Given the description of an element on the screen output the (x, y) to click on. 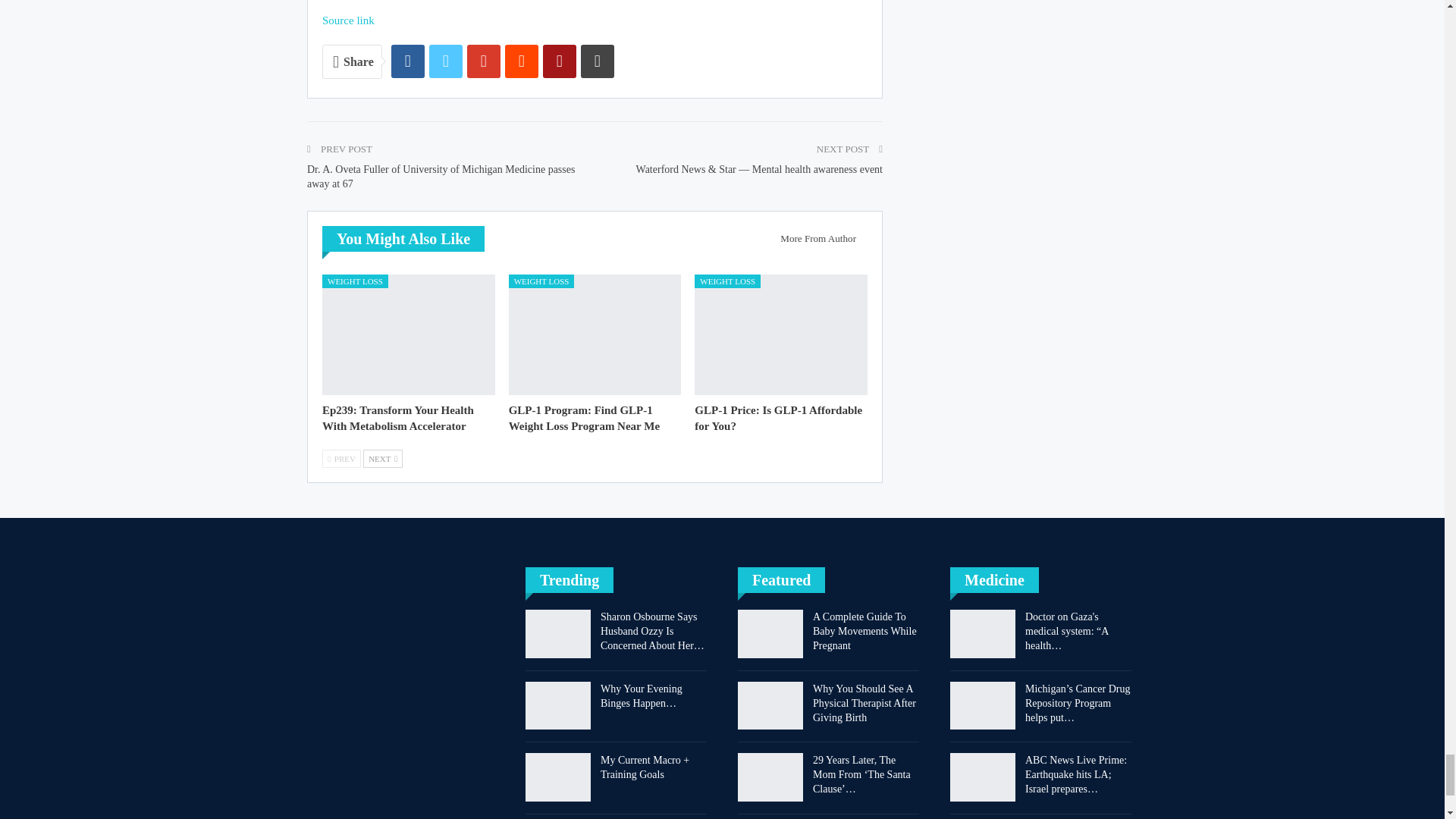
GLP-1 Price: Is GLP-1 Affordable for You? (780, 334)
Next (382, 458)
Previous (341, 458)
GLP-1 Program: Find GLP-1 Weight Loss Program Near Me (583, 418)
GLP-1 Program: Find GLP-1 Weight Loss Program Near Me (594, 334)
Ep239: Transform Your Health With Metabolism Accelerator (408, 334)
Ep239: Transform Your Health With Metabolism Accelerator (397, 418)
GLP-1 Price: Is GLP-1 Affordable for You? (777, 418)
